Given the description of an element on the screen output the (x, y) to click on. 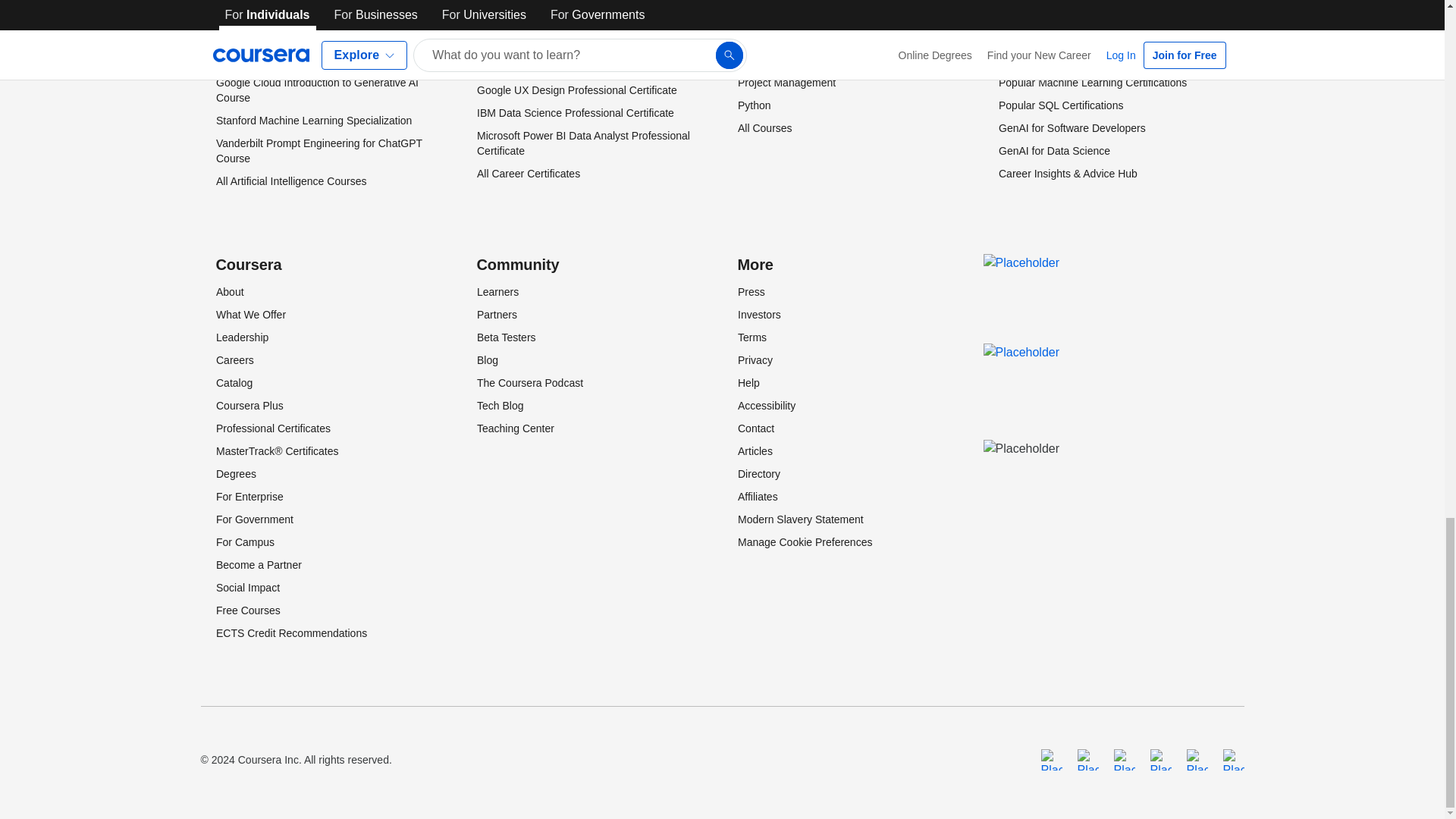
DLAI GenAI with LLMs Course (287, 37)
Stanford Machine Learning Specialization (312, 120)
All Artificial Intelligence Courses (290, 181)
Google Digital Marketing Professional Certificate (564, 22)
Vanderbilt Prompt Engineering for ChatGPT Course (318, 150)
Google Cloud Introduction to Generative AI Course (316, 90)
Google AI Essentials (264, 60)
DLAI GenAI For Everyone Course (295, 14)
